Given the description of an element on the screen output the (x, y) to click on. 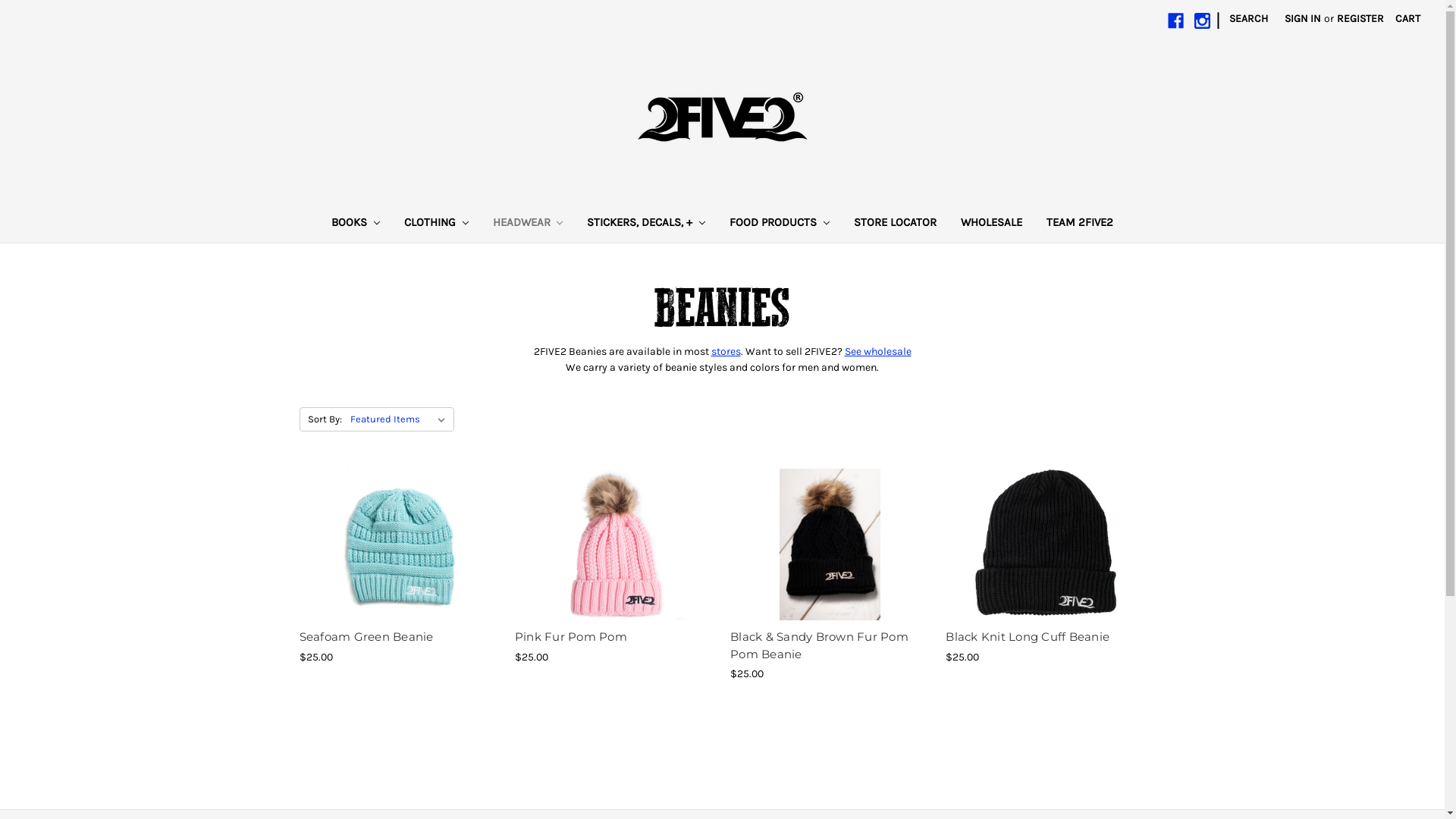
WHOLESALE Element type: text (991, 223)
SIGN IN Element type: text (1302, 18)
SEARCH Element type: text (1248, 18)
FOOD PRODUCTS Element type: text (779, 223)
Black Knit Long Cuff Beanie Element type: hover (1045, 544)
Seafoam Green Beanie Element type: hover (398, 544)
CLOTHING Element type: text (436, 223)
beanies Element type: hover (722, 306)
Pink Fur Pom Pom Element type: hover (614, 544)
TEAM 2FIVE2 Element type: text (1079, 223)
2FIVE2 Element type: hover (722, 118)
STICKERS, DECALS, + Element type: text (645, 223)
See wholesale Element type: text (877, 351)
Seafoam Green Beanie Element type: text (365, 636)
STORE LOCATOR Element type: text (894, 223)
CART Element type: text (1407, 18)
stores Element type: text (725, 351)
Pink Fur Pom Pom Element type: text (570, 636)
REGISTER Element type: text (1360, 18)
HEADWEAR Element type: text (527, 223)
BOOKS Element type: text (355, 223)
Black & Sandy Brown Fur Pom Pom Beanie Element type: text (819, 645)
Black & Sandy Brown Fur Pom Pom Beanie  Element type: hover (829, 544)
Black Knit Long Cuff Beanie Element type: text (1027, 636)
